Given the description of an element on the screen output the (x, y) to click on. 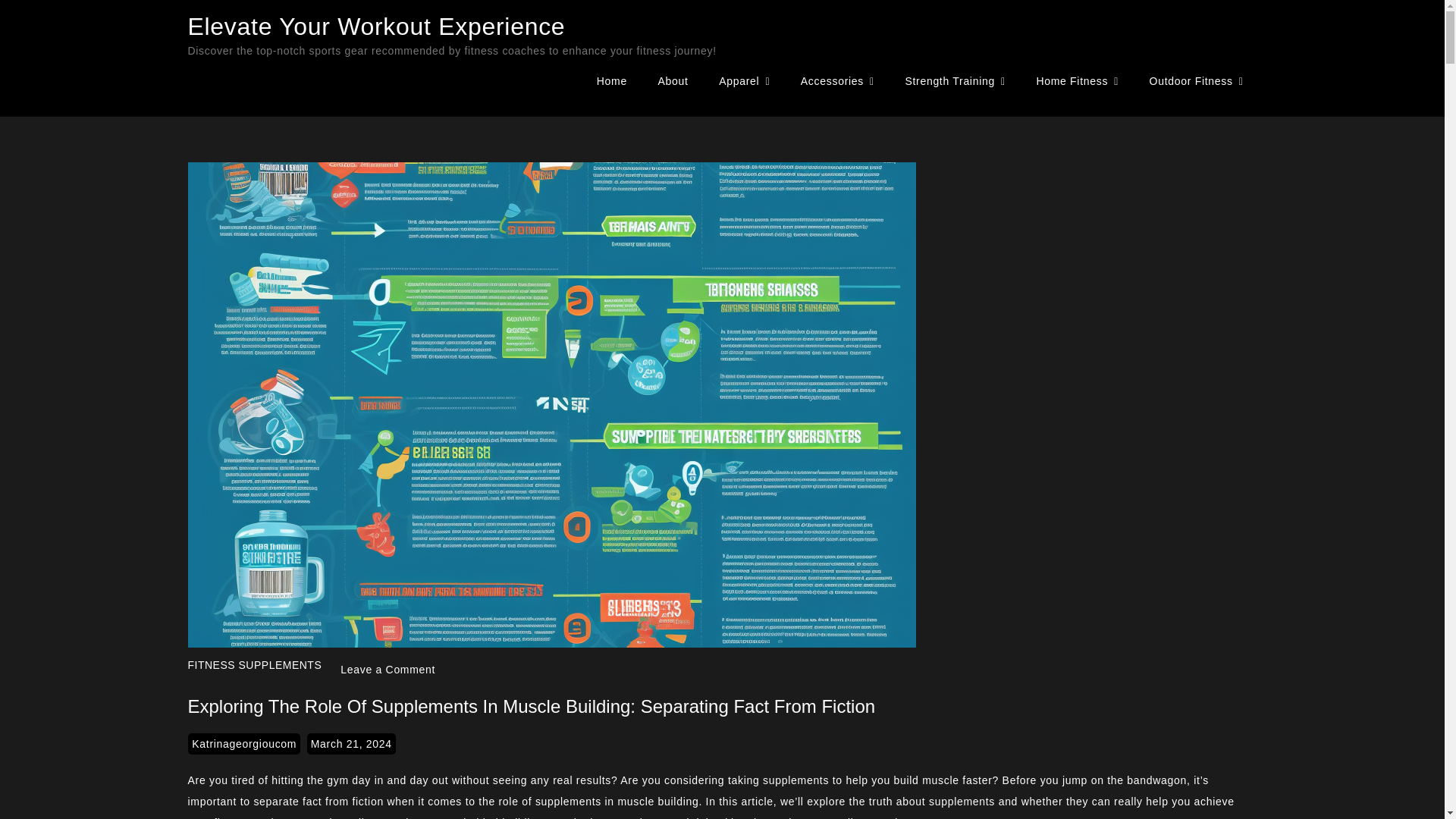
Katrinageorgioucom (243, 743)
March 21, 2024 (351, 743)
Strength Training (954, 81)
Home Fitness (1077, 81)
Accessories (837, 81)
Outdoor Fitness (1196, 81)
FITNESS SUPPLEMENTS (254, 664)
About (673, 80)
Apparel (743, 81)
Elevate Your Workout Experience (376, 26)
Home (611, 80)
